Given the description of an element on the screen output the (x, y) to click on. 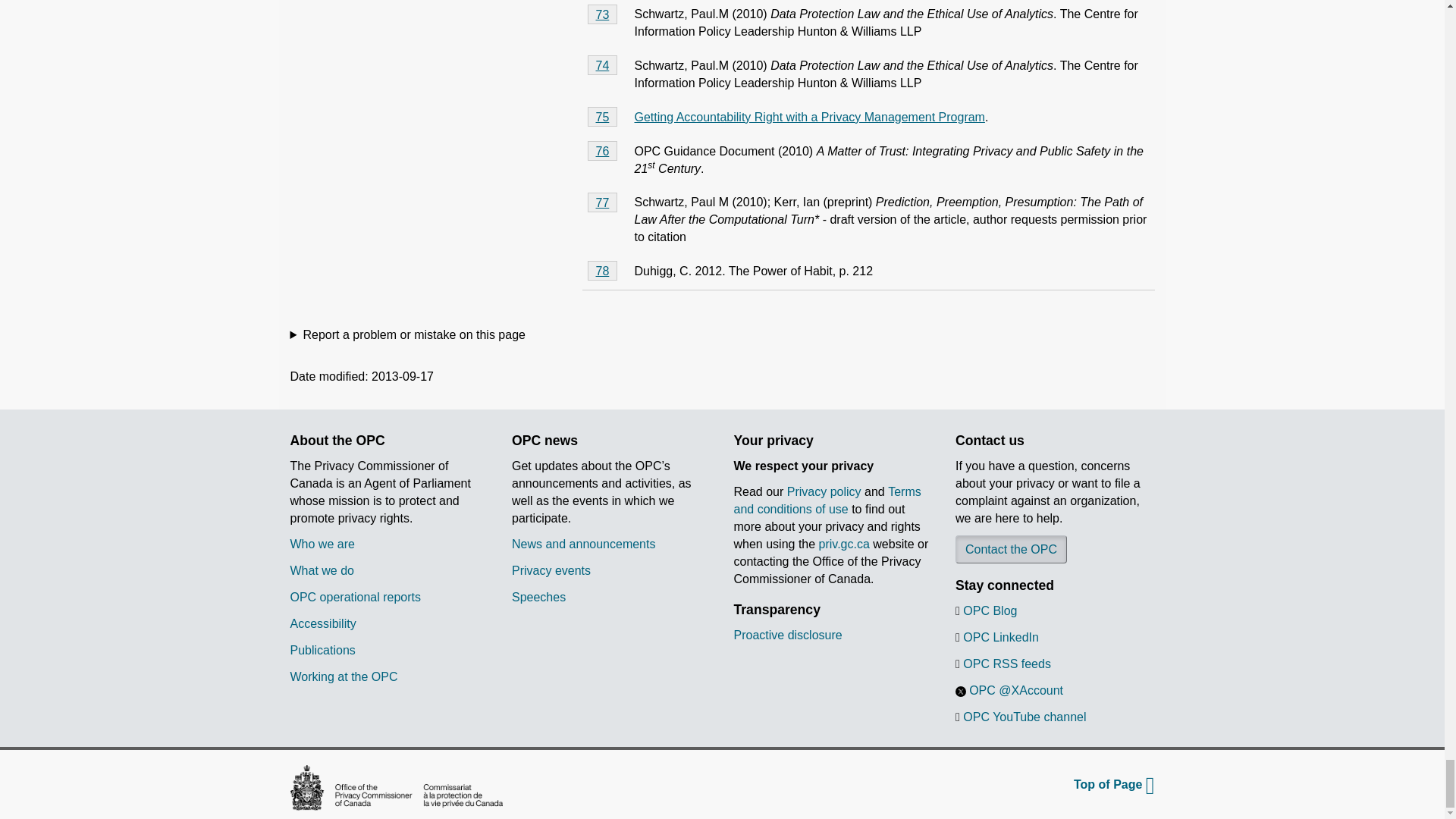
X Account (960, 691)
